Given the description of an element on the screen output the (x, y) to click on. 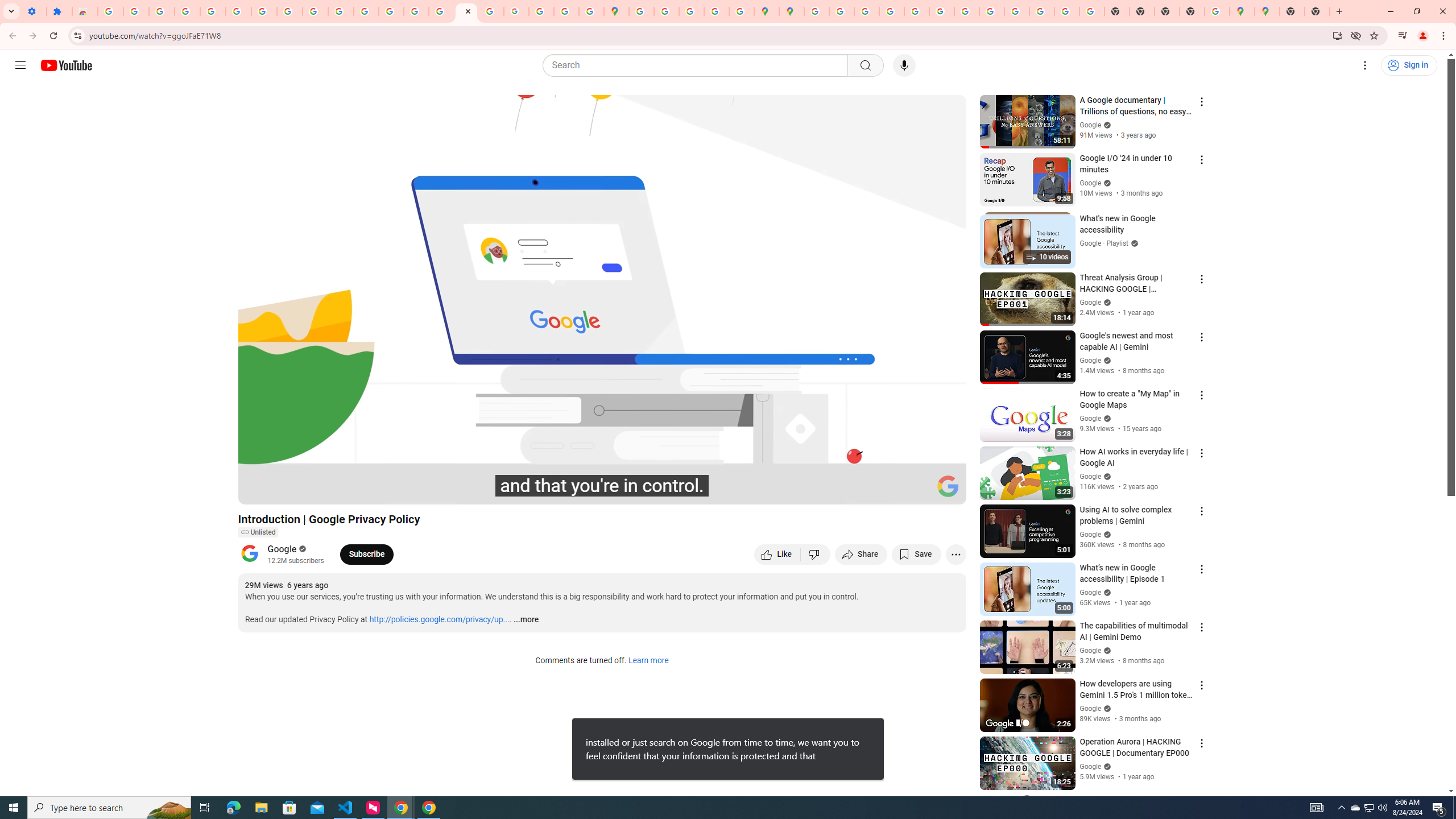
Install YouTube (1336, 35)
Google Maps (1241, 11)
YouTube (289, 11)
New Tab (1191, 11)
Reviews: Helix Fruit Jump Arcade Game (84, 11)
Pause (k) (257, 490)
Action menu (1200, 801)
